Given the description of an element on the screen output the (x, y) to click on. 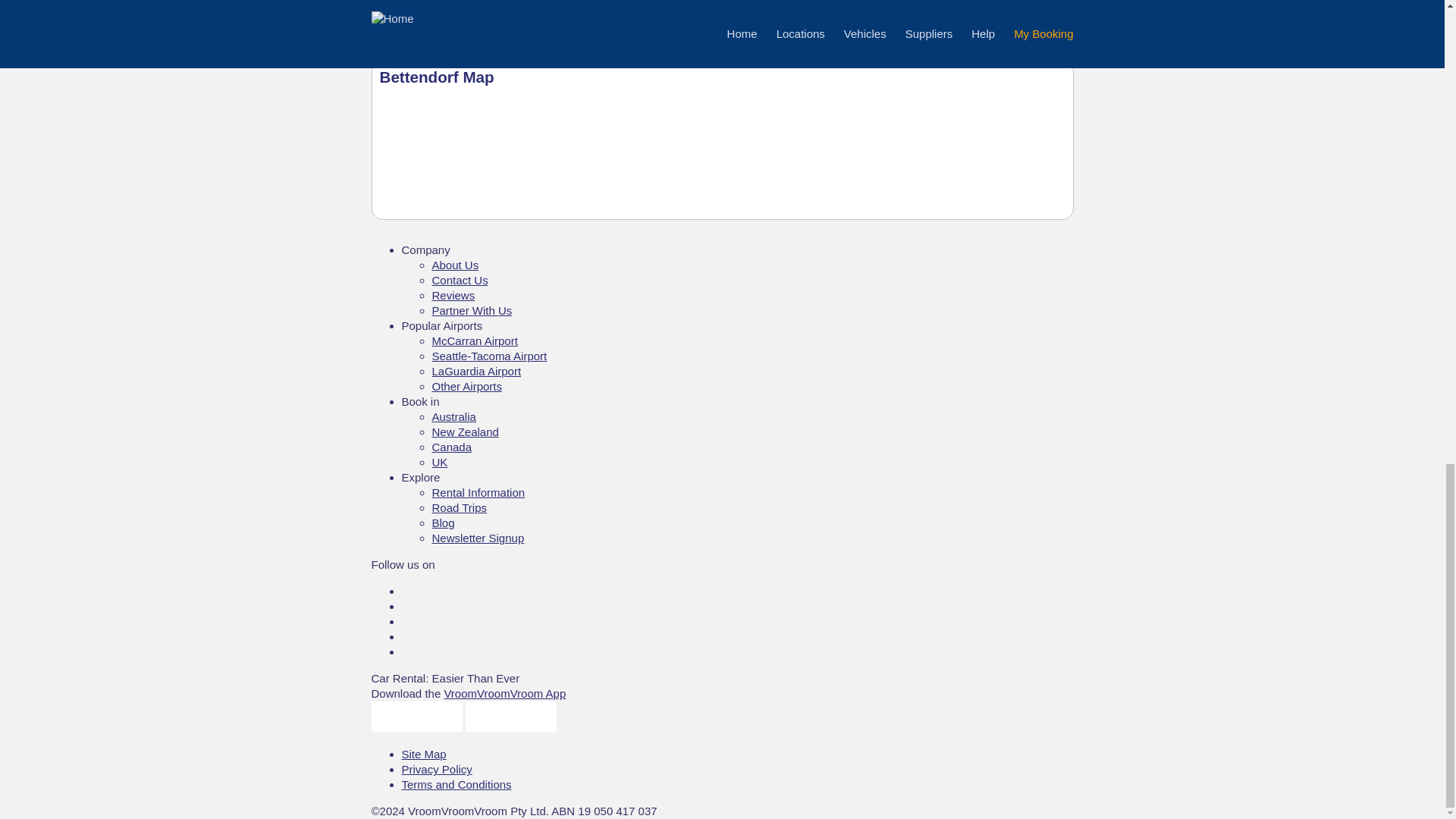
IOS App (417, 727)
Google App (510, 727)
East Moline (411, 11)
